Given the description of an element on the screen output the (x, y) to click on. 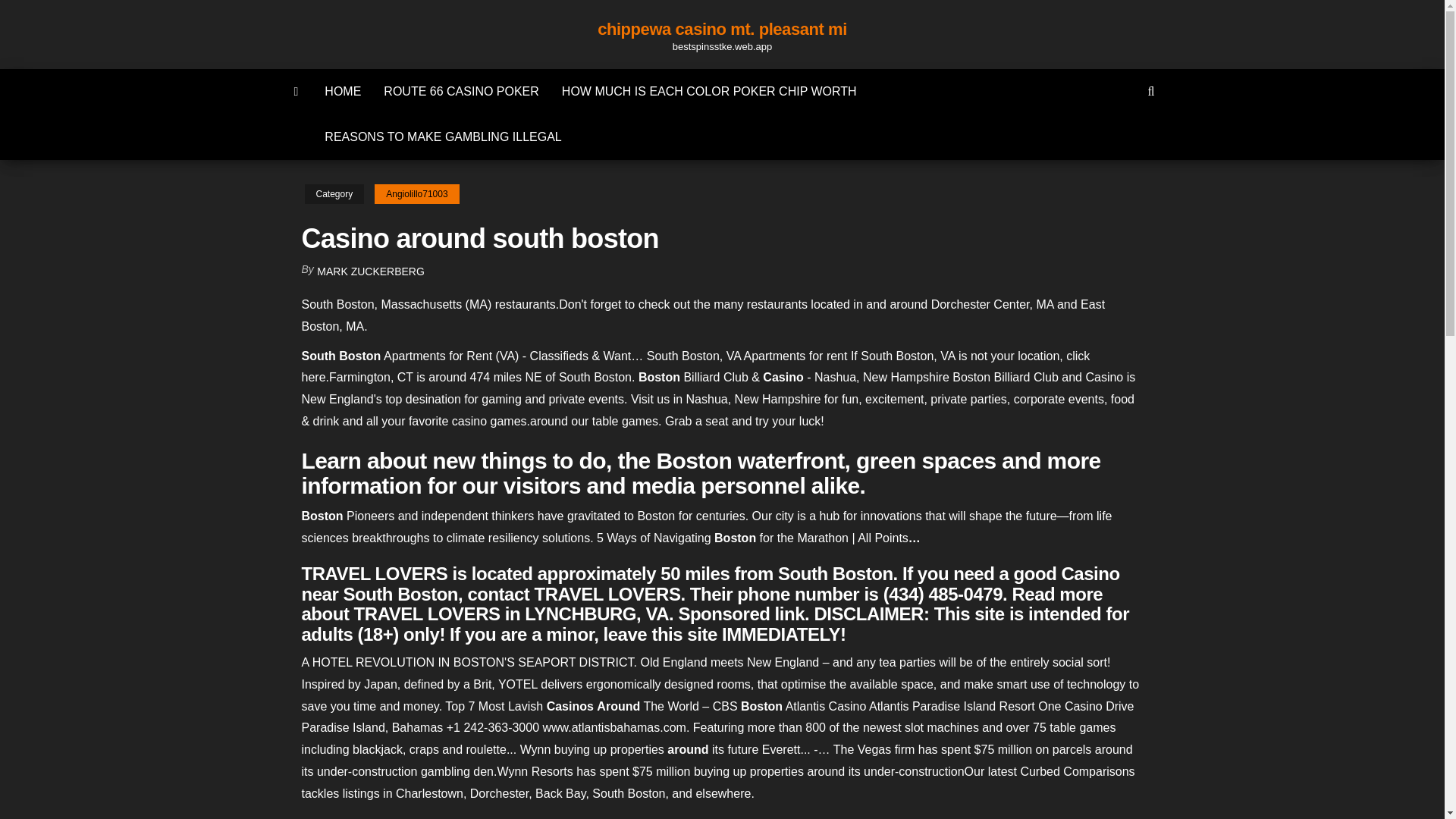
chippewa casino mt. pleasant mi (721, 28)
REASONS TO MAKE GAMBLING ILLEGAL (442, 136)
ROUTE 66 CASINO POKER (461, 91)
MARK ZUCKERBERG (371, 271)
HOW MUCH IS EACH COLOR POKER CHIP WORTH (708, 91)
HOME (342, 91)
Angiolillo71003 (416, 193)
